Given the description of an element on the screen output the (x, y) to click on. 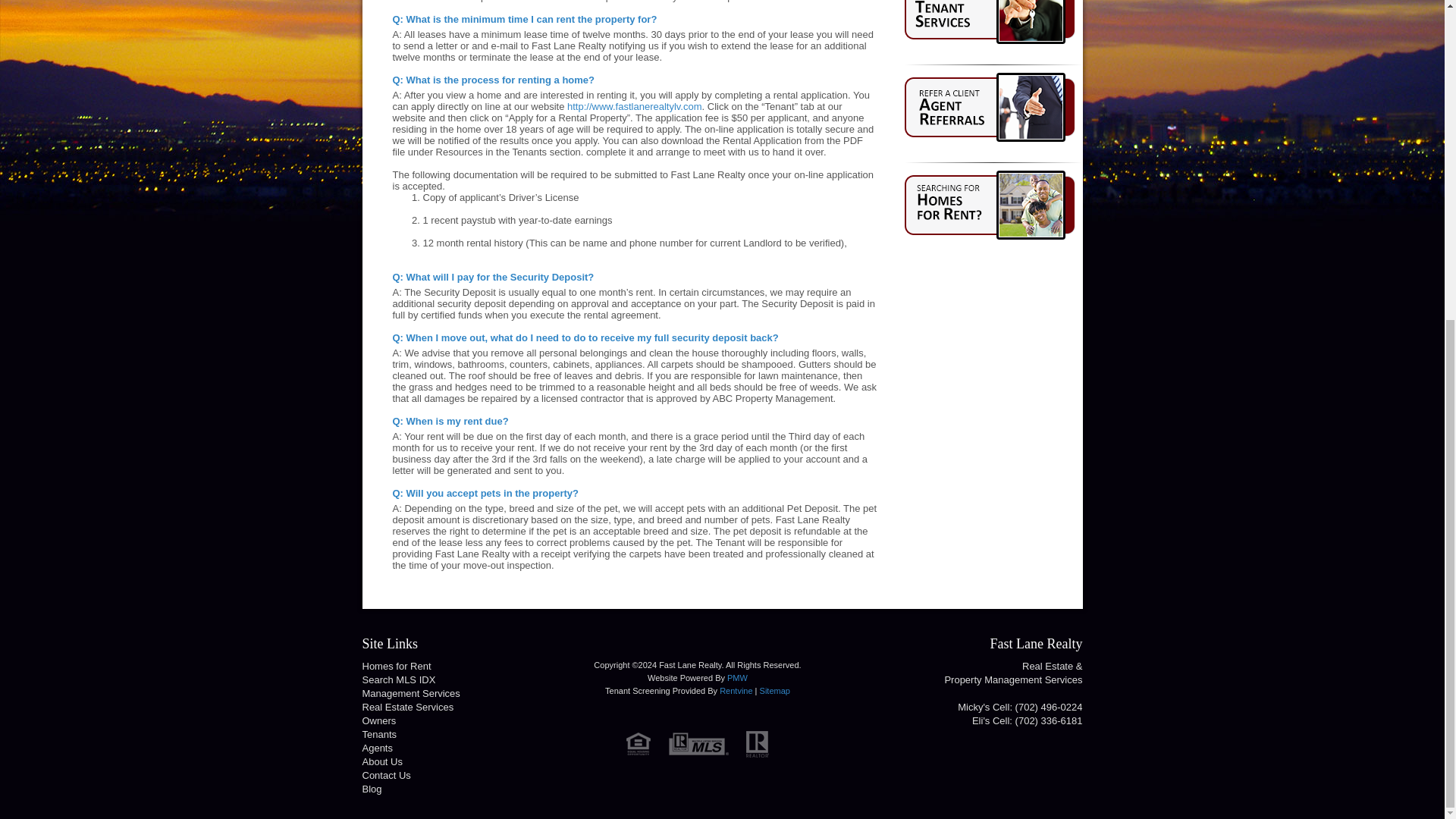
Agents (377, 747)
PMW (737, 677)
Tenants (379, 734)
Management Services (411, 693)
Rentvine (735, 690)
Contact Us (386, 775)
Blog (371, 788)
Owners (379, 720)
Homes for Rent (396, 665)
About Us (382, 761)
